Given the description of an element on the screen output the (x, y) to click on. 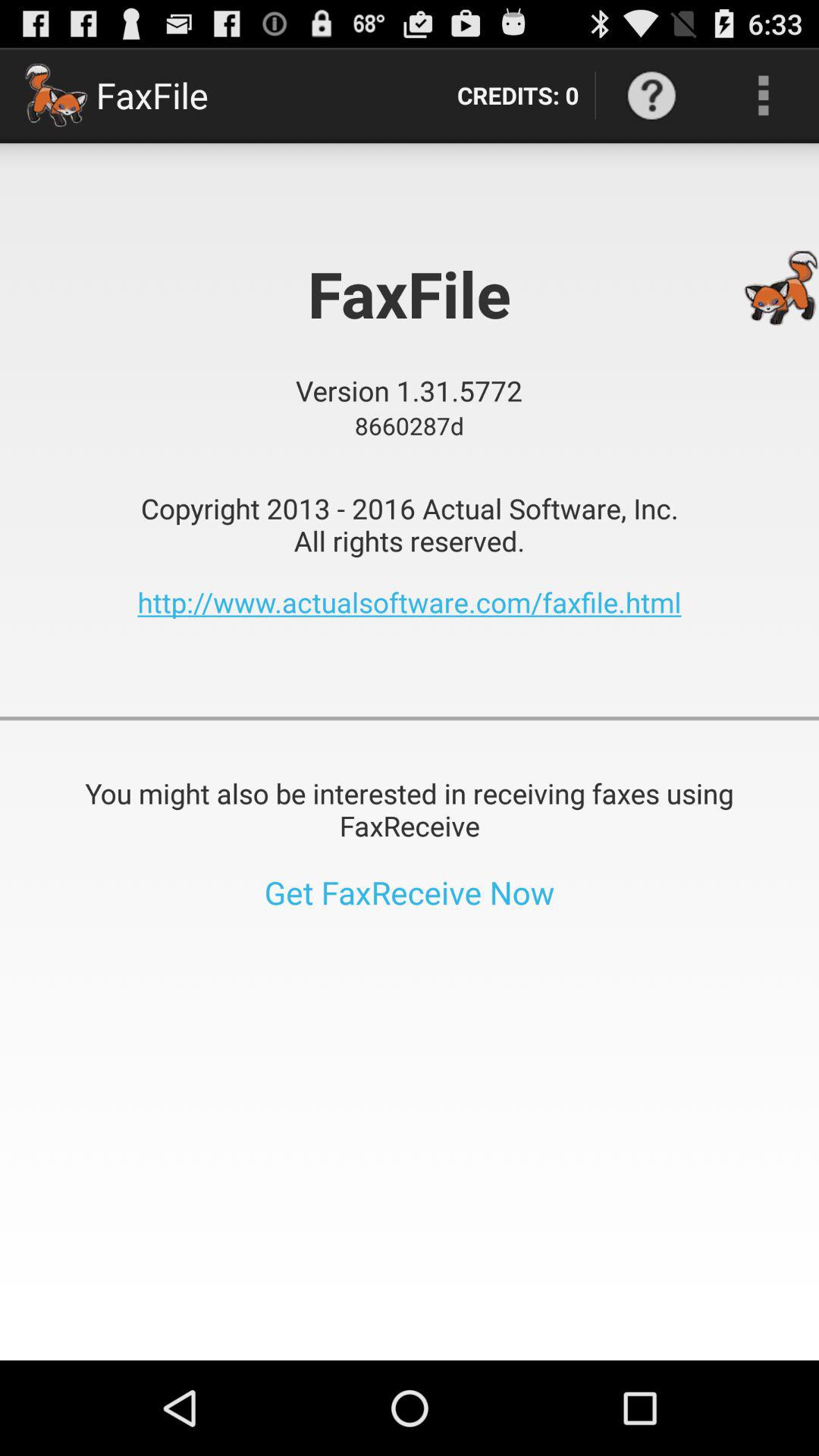
choose app to the right of the faxfile app (517, 95)
